Given the description of an element on the screen output the (x, y) to click on. 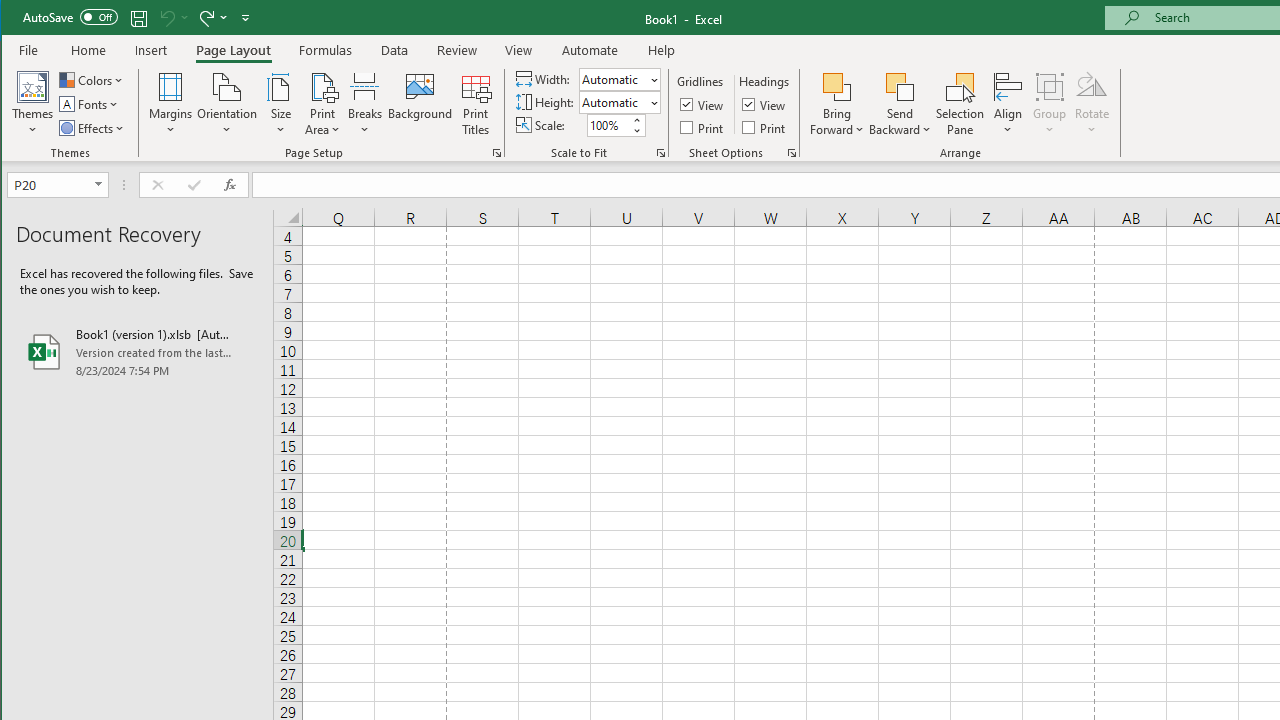
Selection Pane... (960, 104)
More (636, 120)
Send Backward (900, 104)
Fonts (90, 103)
Scale (607, 125)
Size (280, 104)
Page Setup (660, 152)
